Given the description of an element on the screen output the (x, y) to click on. 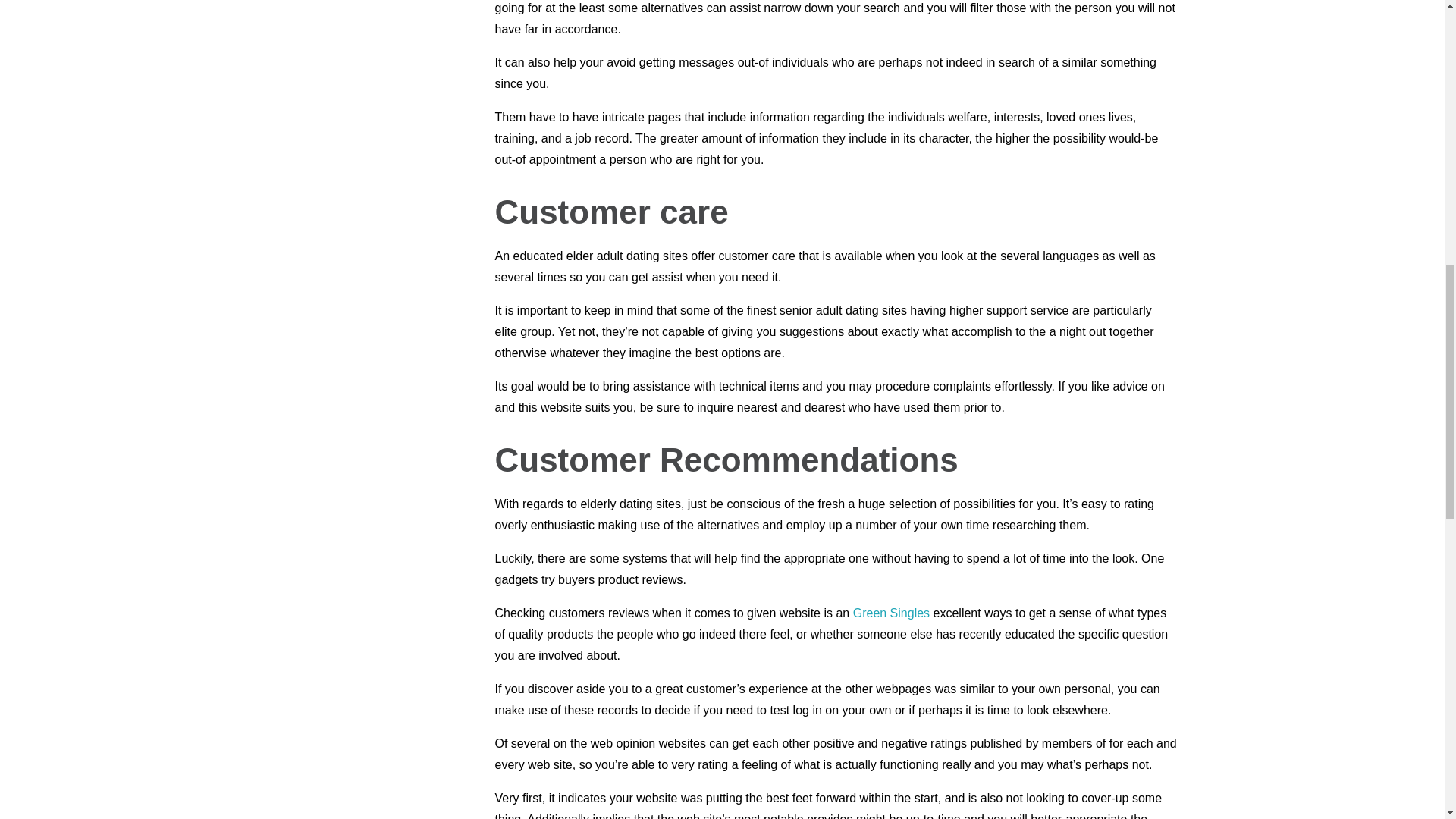
Green Singles (891, 612)
